Given the description of an element on the screen output the (x, y) to click on. 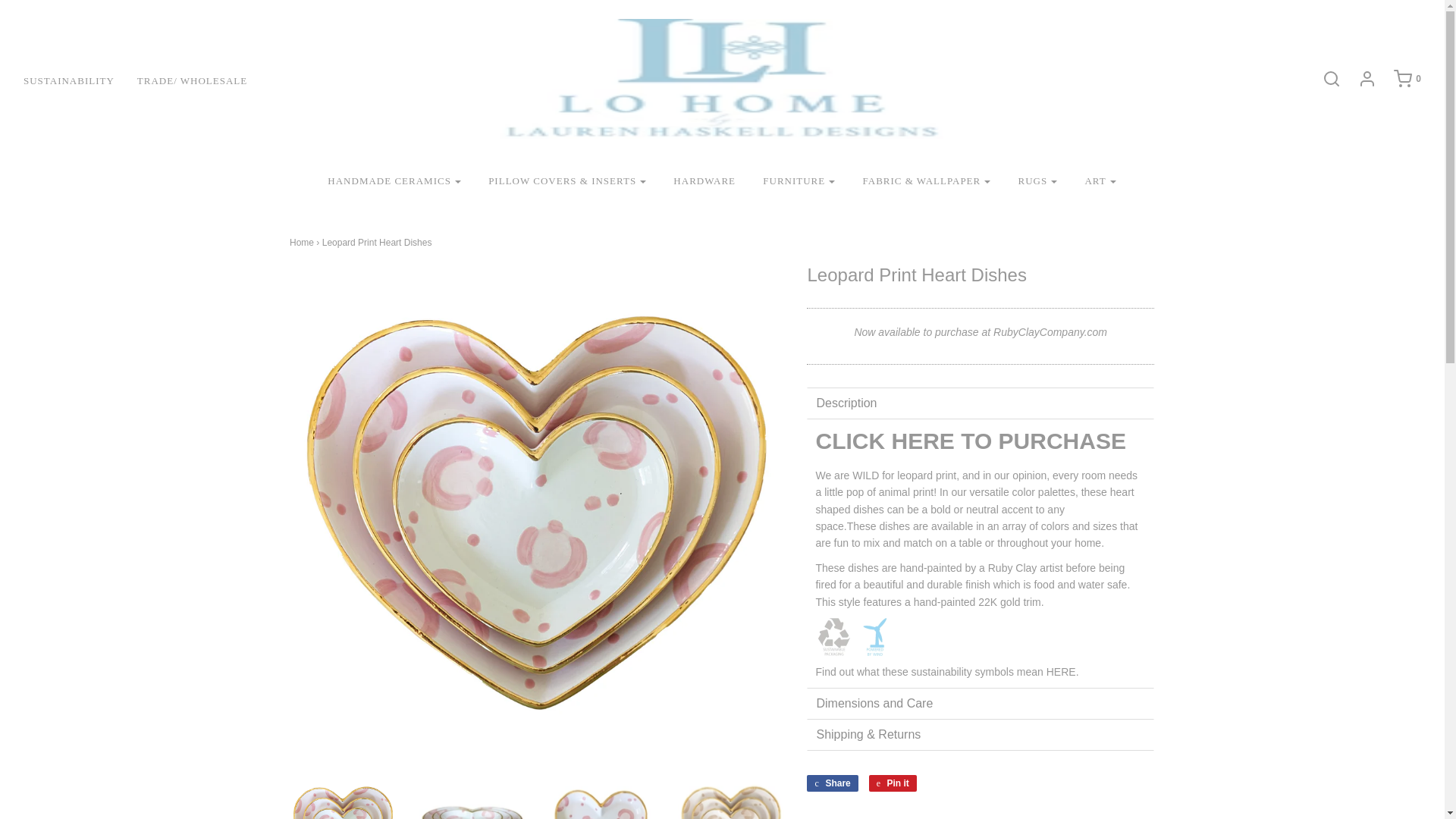
Log in (1358, 78)
SUSTAINABILITY (79, 80)
Leopard Print Heart Dishes (342, 797)
0 (1399, 78)
Leopard Print Heart Dishes (472, 797)
Search (1323, 78)
Leopard Print Heart Dishes (601, 797)
Cart (1399, 78)
HANDMADE CERAMICS (393, 181)
Leopard Print Heart Dishes (731, 797)
